Given the description of an element on the screen output the (x, y) to click on. 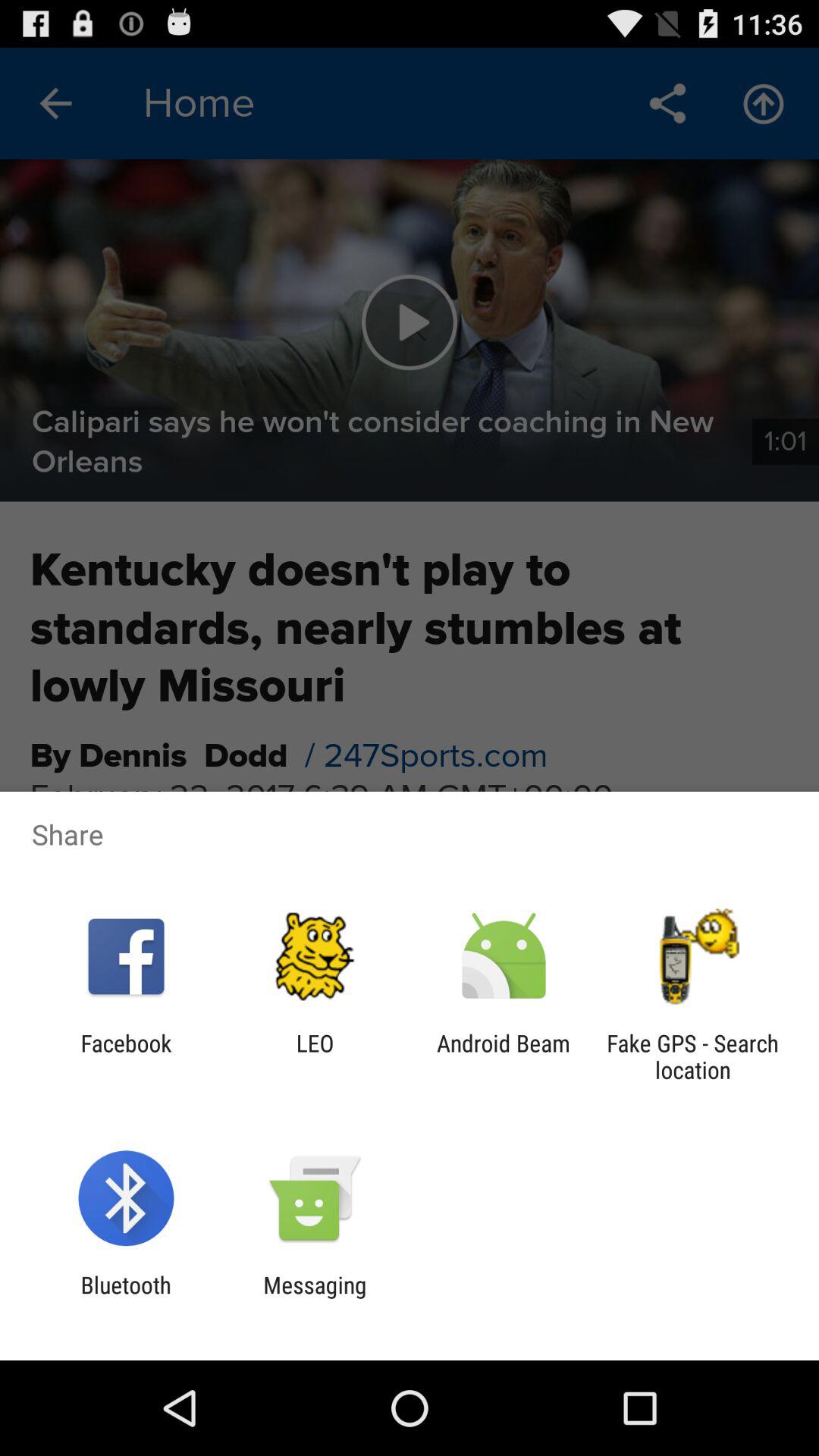
choose fake gps search icon (692, 1056)
